Given the description of an element on the screen output the (x, y) to click on. 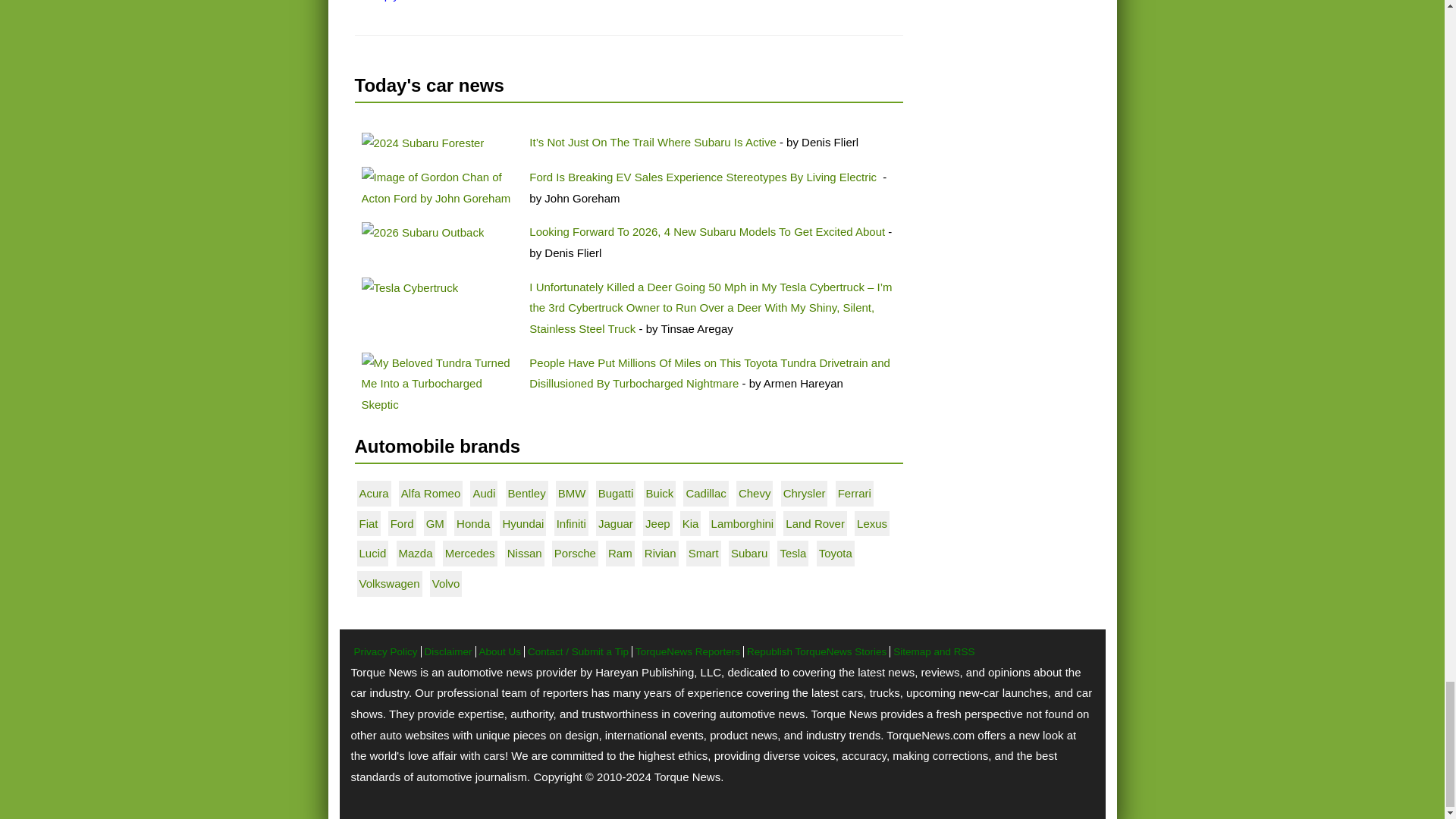
2024 Subaru Forester on the beach (422, 142)
2026 Subaru Outback wheel and side view (422, 232)
Ford dealer associate image (438, 187)
My Beloved Tundra Turned Me Into a Turbocharged Skeptic (438, 383)
